Given the description of an element on the screen output the (x, y) to click on. 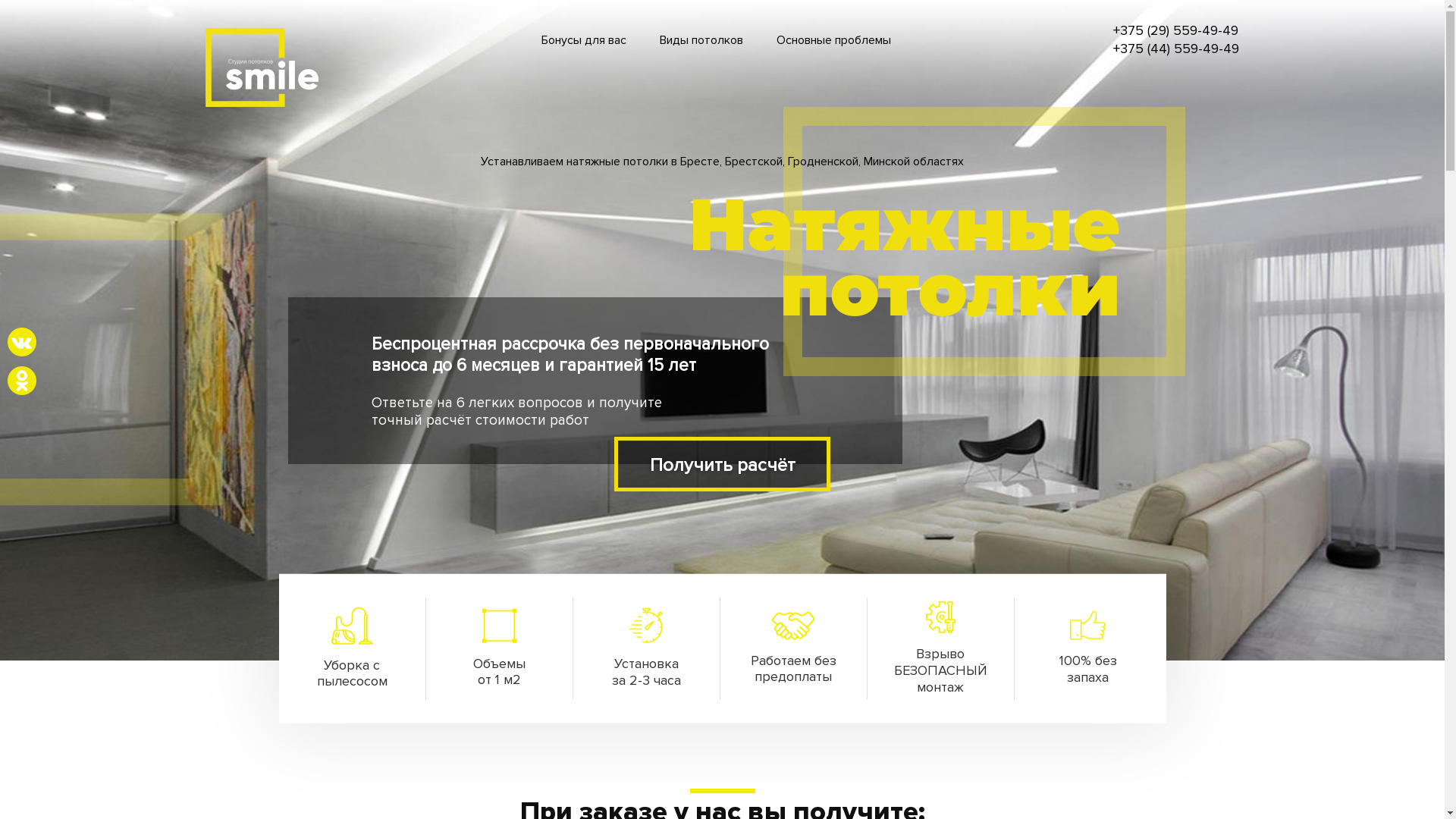
+375 (29) 559-49-49 Element type: text (1175, 30)
+375 (44) 559-49-49 Element type: text (1176, 48)
